Given the description of an element on the screen output the (x, y) to click on. 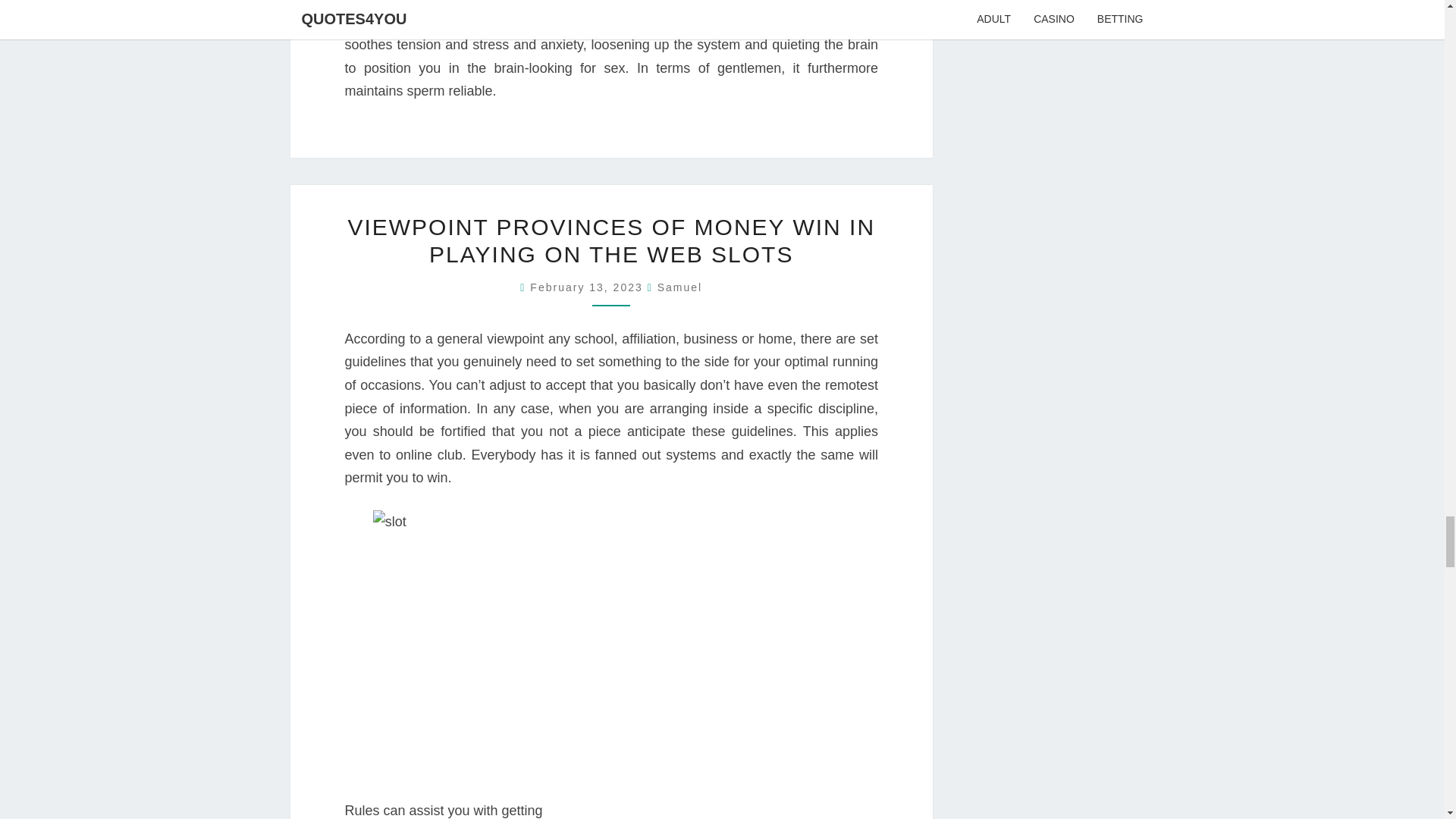
February 13, 2023 (587, 287)
View all posts by Samuel (679, 287)
10:04 am (587, 287)
VIEWPOINT PROVINCES OF MONEY WIN IN PLAYING ON THE WEB SLOTS (611, 240)
Samuel (679, 287)
